Given the description of an element on the screen output the (x, y) to click on. 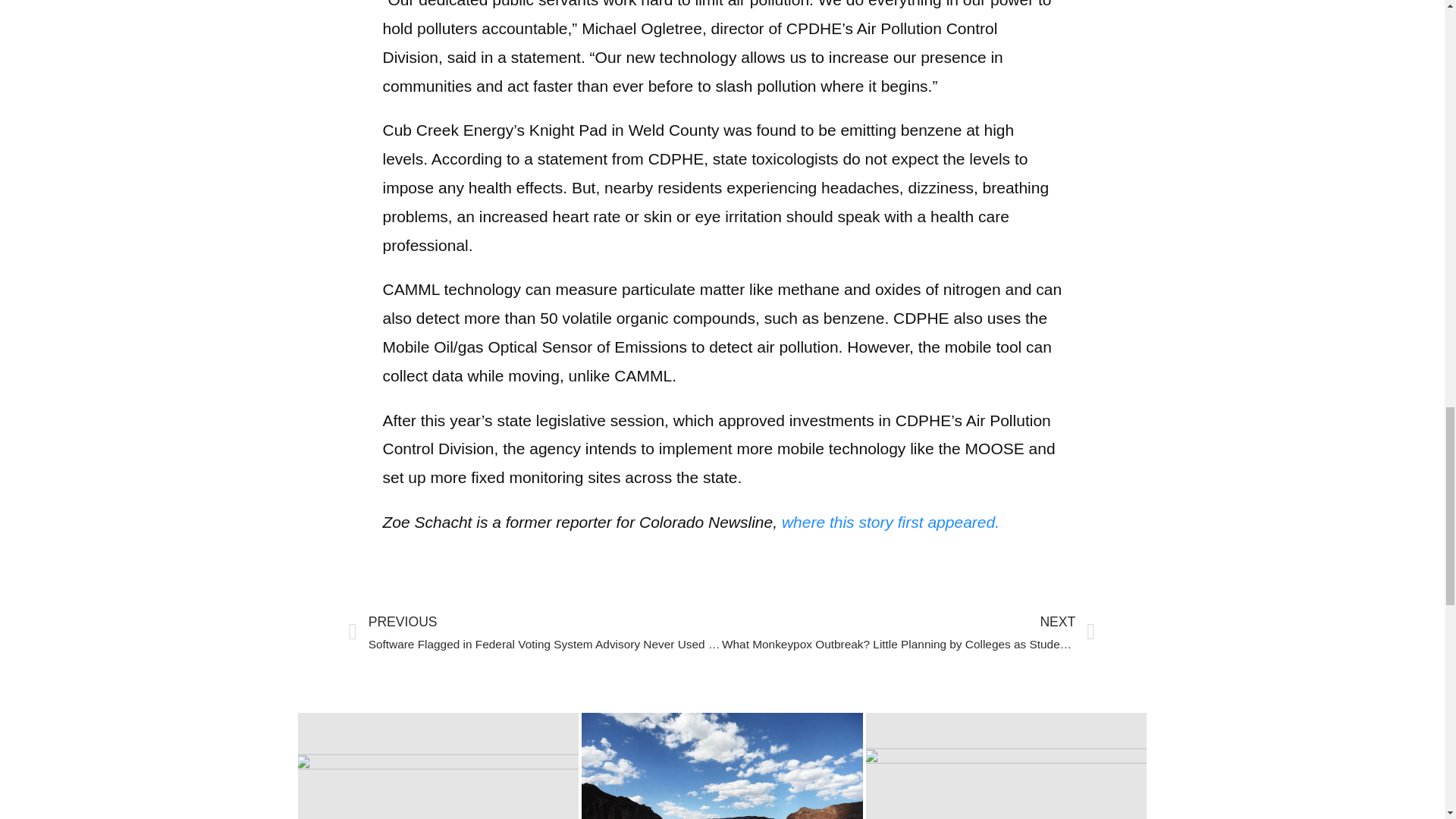
where this story first appeared. (889, 521)
